Given the description of an element on the screen output the (x, y) to click on. 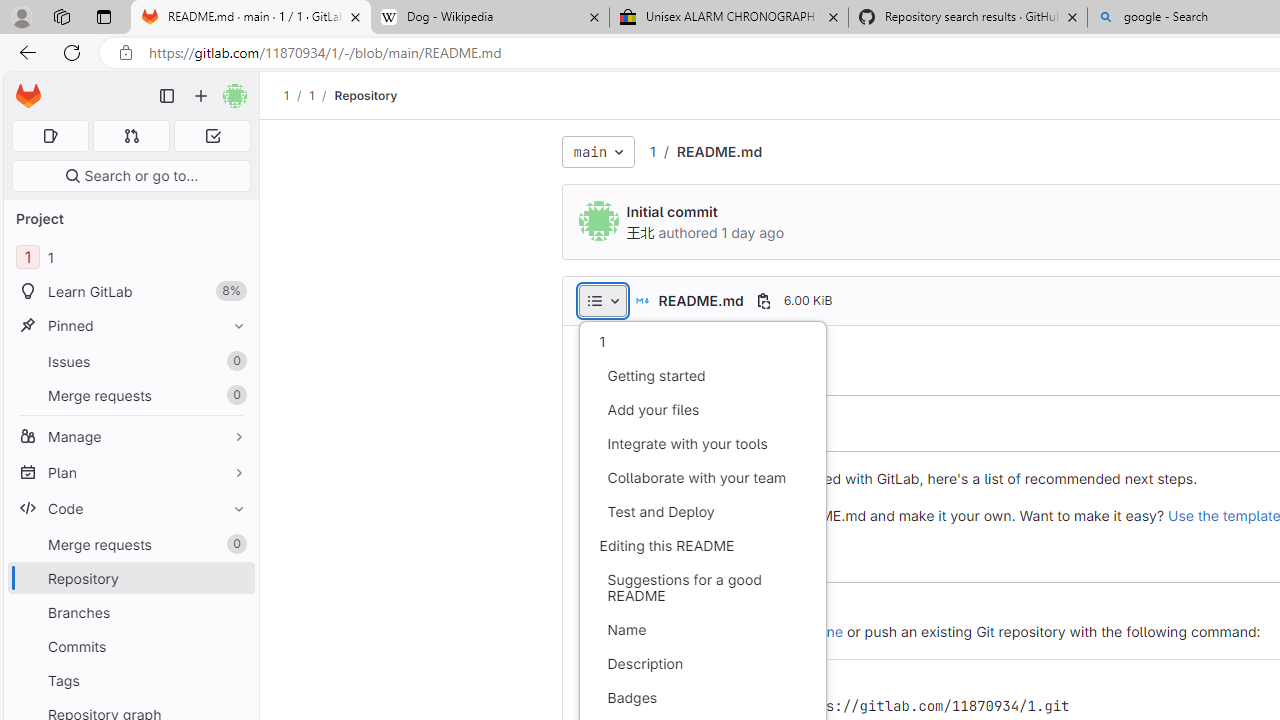
Initial commit (671, 211)
1 1 (130, 257)
Integrate with your tools (701, 443)
Merge requests 0 (130, 543)
Branches (130, 612)
Add your files (701, 409)
Editing this README (701, 545)
Description (701, 663)
Name (701, 629)
Badges (701, 697)
Pin Repository (234, 578)
